Given the description of an element on the screen output the (x, y) to click on. 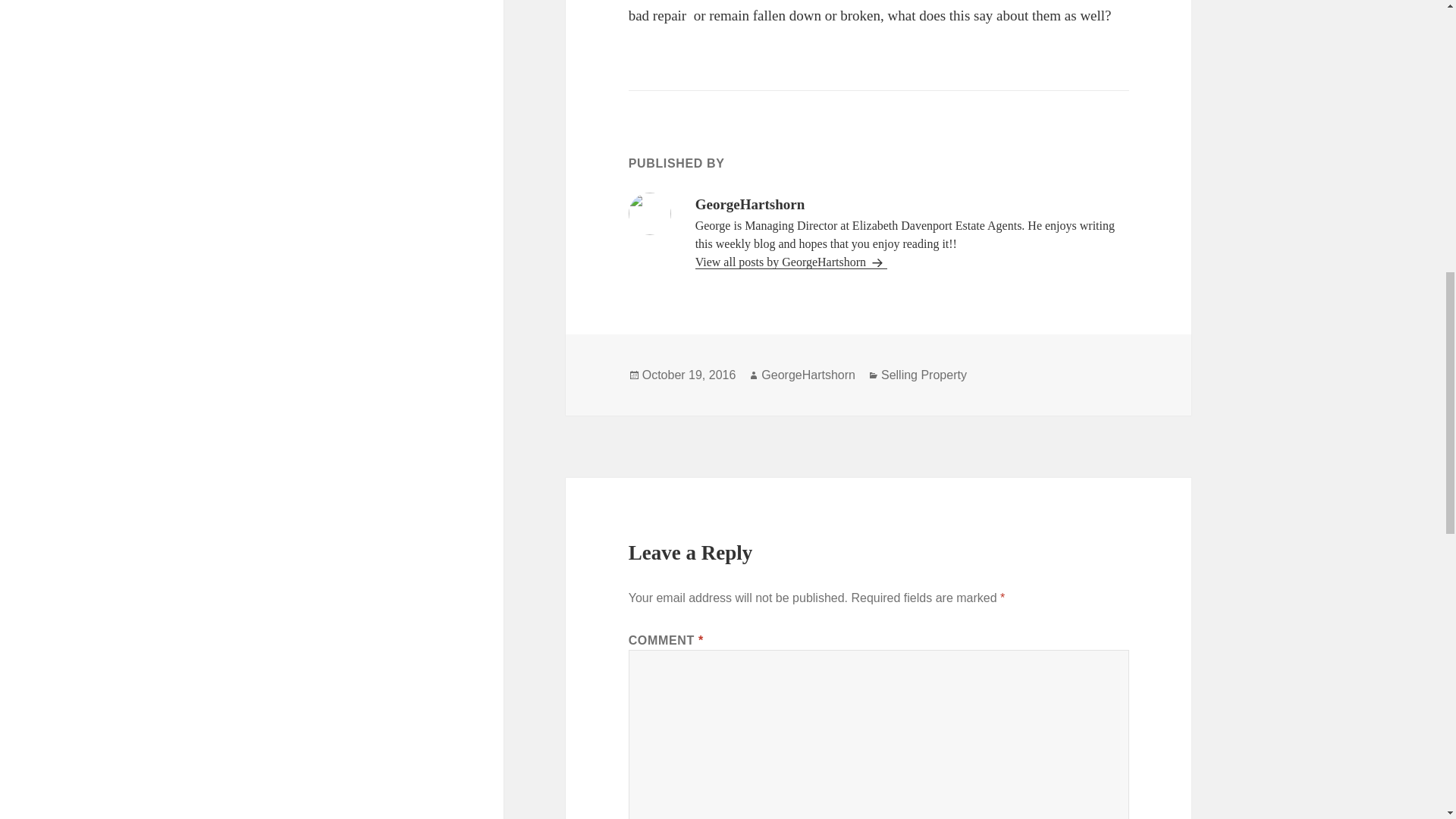
Selling Property (923, 375)
GeorgeHartshorn (808, 375)
View all posts by GeorgeHartshorn (790, 262)
October 19, 2016 (689, 375)
